Given the description of an element on the screen output the (x, y) to click on. 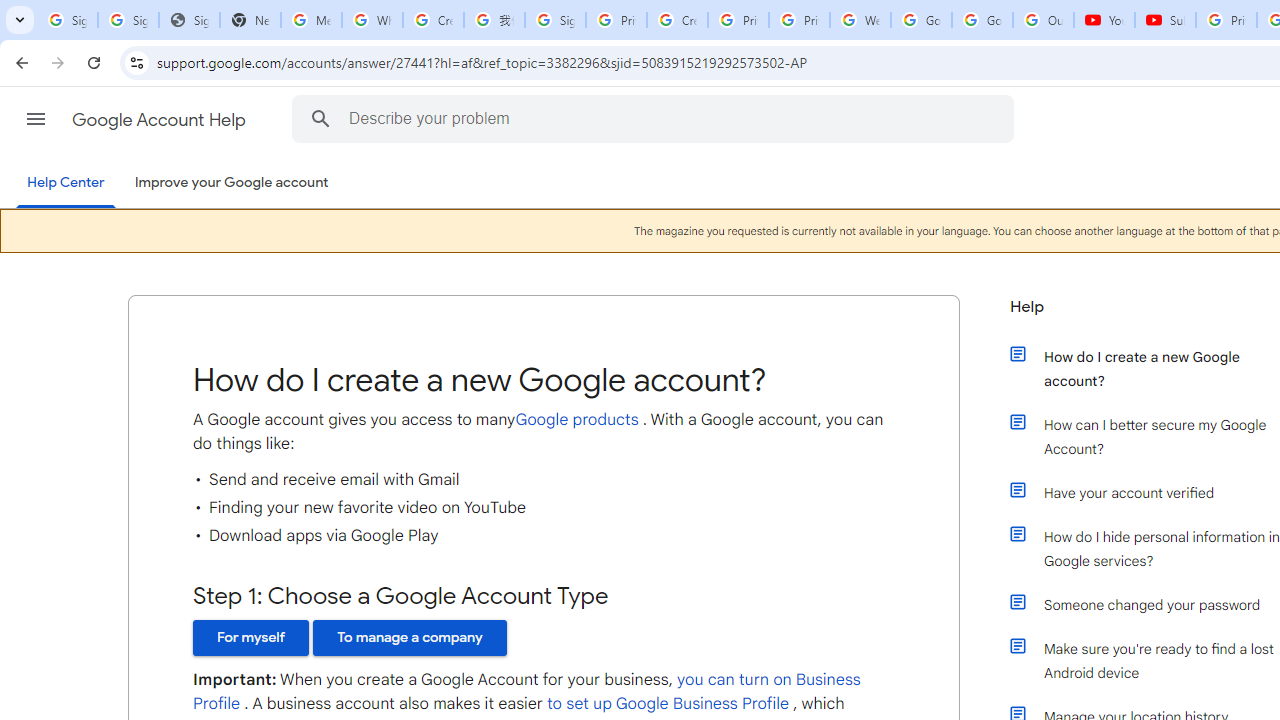
Sign in - Google Accounts (555, 20)
YouTube (1104, 20)
System (10, 11)
Sign in - Google Accounts (128, 20)
System (10, 11)
View site information (136, 62)
Back (19, 62)
To manage a company (409, 637)
